Given the description of an element on the screen output the (x, y) to click on. 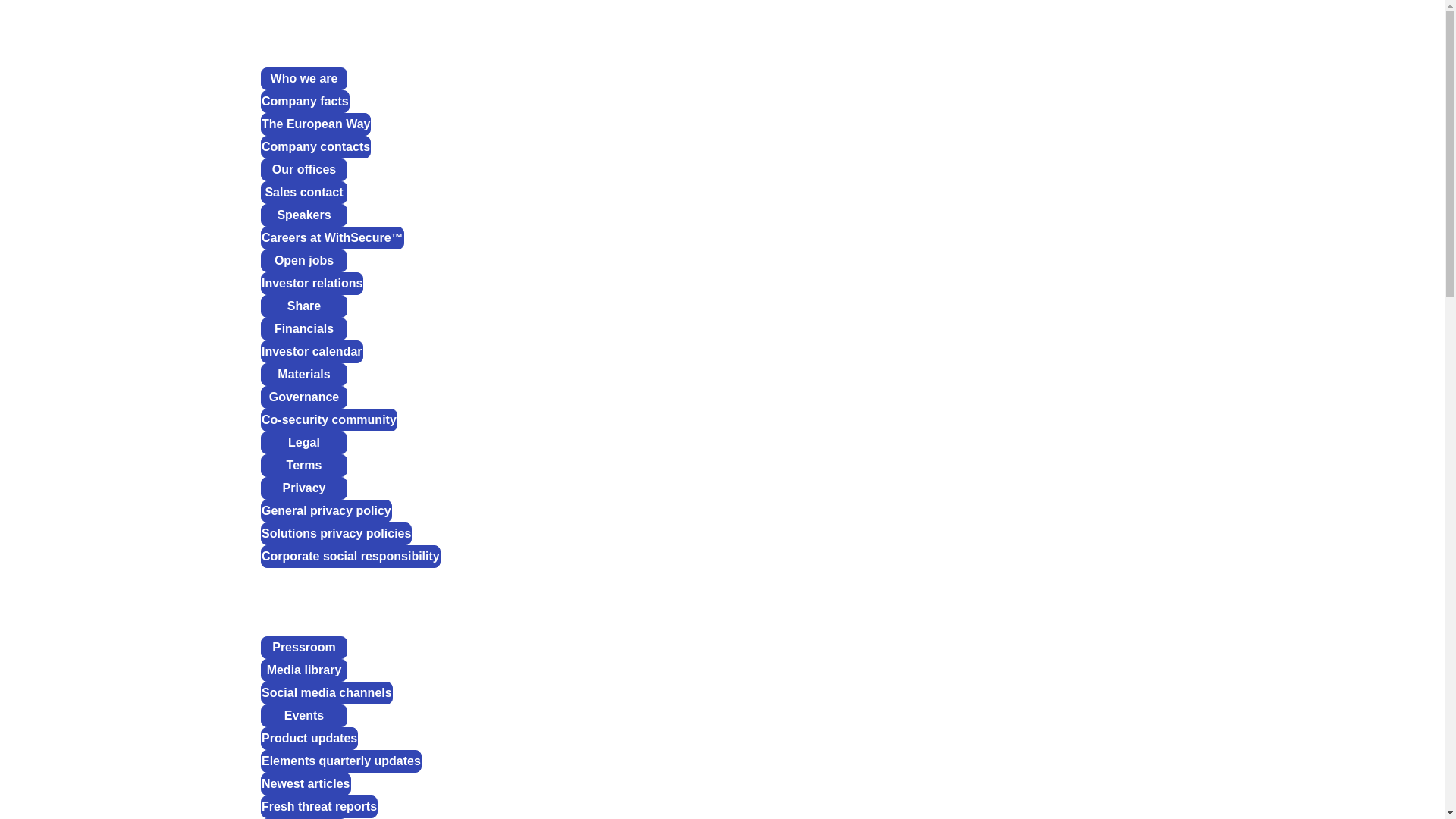
Privacy (303, 487)
Sales contact (303, 191)
The European Way (315, 124)
Legal (303, 442)
Investor calendar (311, 351)
Elements quarterly updates (341, 761)
Company contacts (315, 146)
Speakers (303, 214)
Financials (303, 328)
Materials (303, 374)
Social media channels (326, 692)
Open jobs (303, 260)
Governance (303, 396)
Who we are (303, 78)
